Given the description of an element on the screen output the (x, y) to click on. 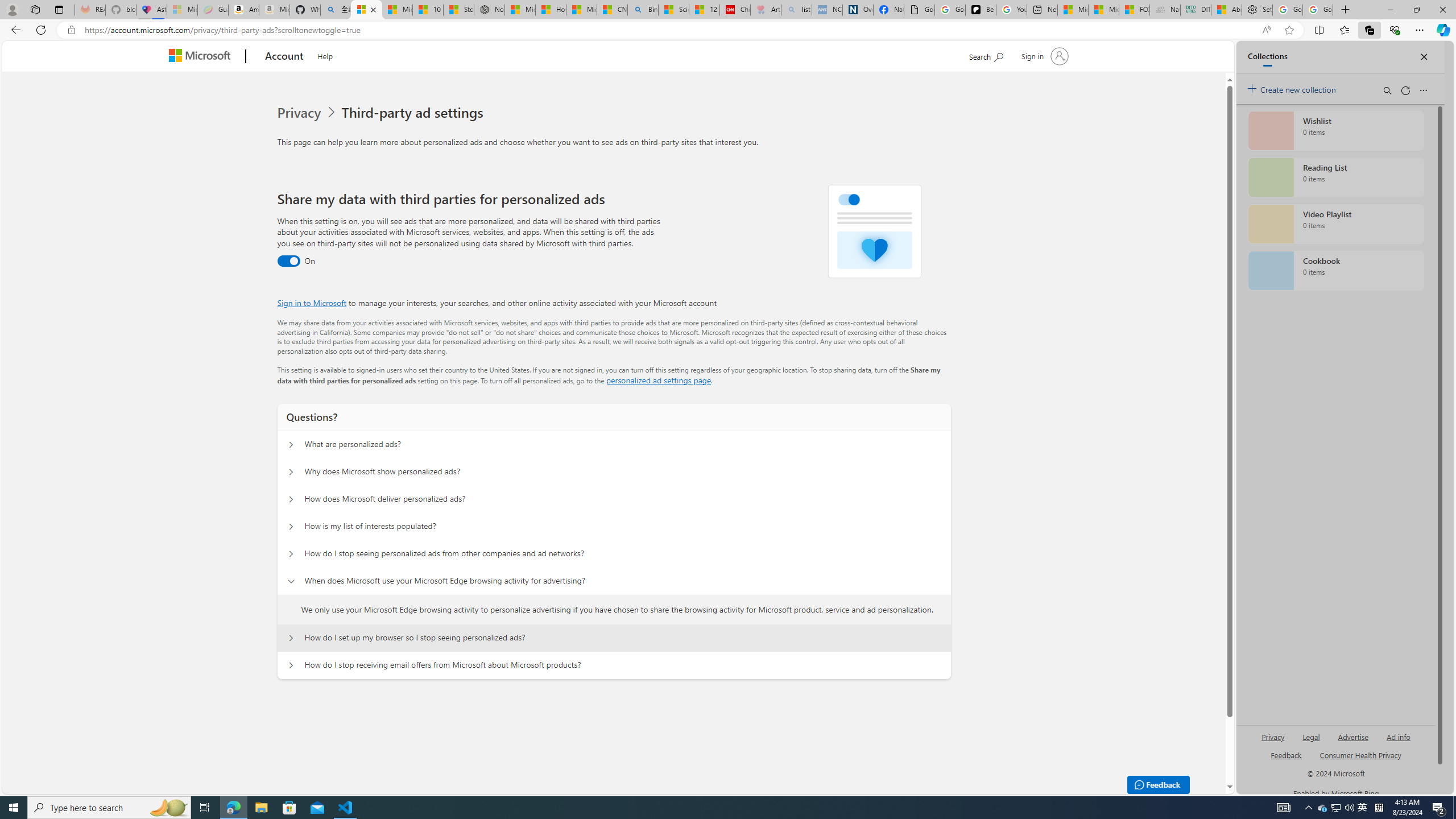
12 Popular Science Lies that Must be Corrected (704, 9)
AutomationID: genId96 (1285, 759)
Stocks - MSN (458, 9)
Help (324, 54)
Arthritis: Ask Health Professionals - Sleeping (765, 9)
CNN - MSN (611, 9)
Address and search bar (669, 29)
